Given the description of an element on the screen output the (x, y) to click on. 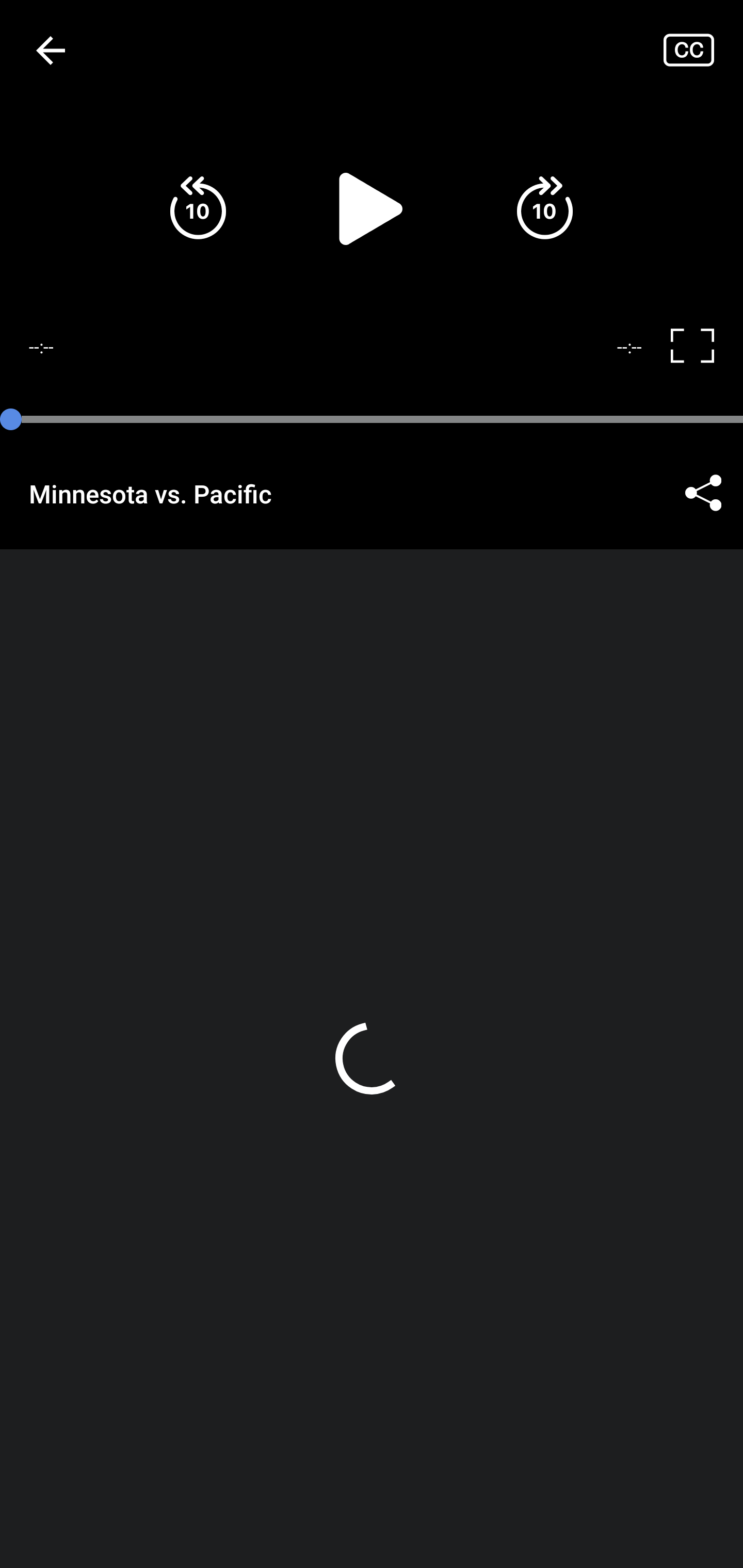
Navigate up (50, 50)
Closed captions  (703, 49)
Rewind 10 seconds  (197, 208)
Fast forward 10 seconds  (544, 208)
Play (371, 208)
Fullscreen  (699, 346)
Share © (703, 493)
